Given the description of an element on the screen output the (x, y) to click on. 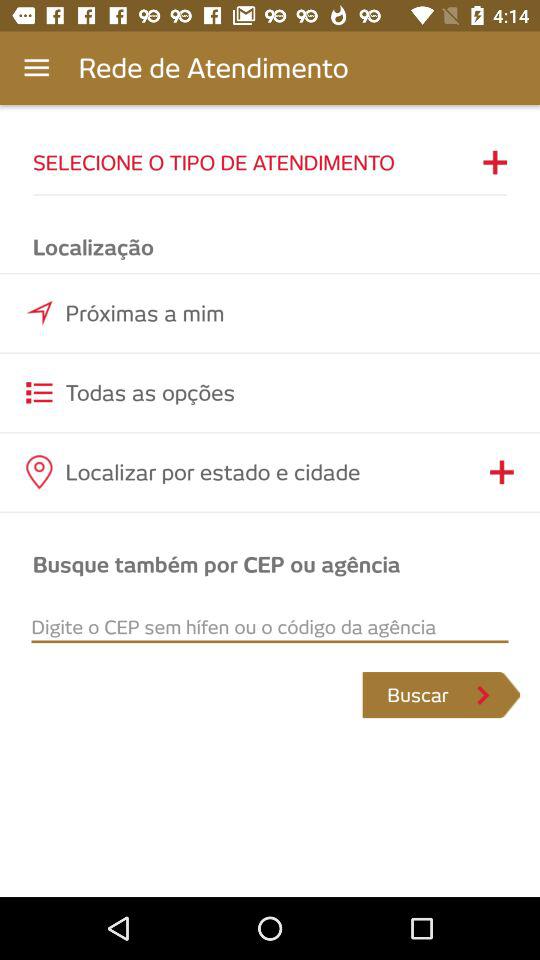
tap app next to the rede de atendimento app (36, 68)
